Given the description of an element on the screen output the (x, y) to click on. 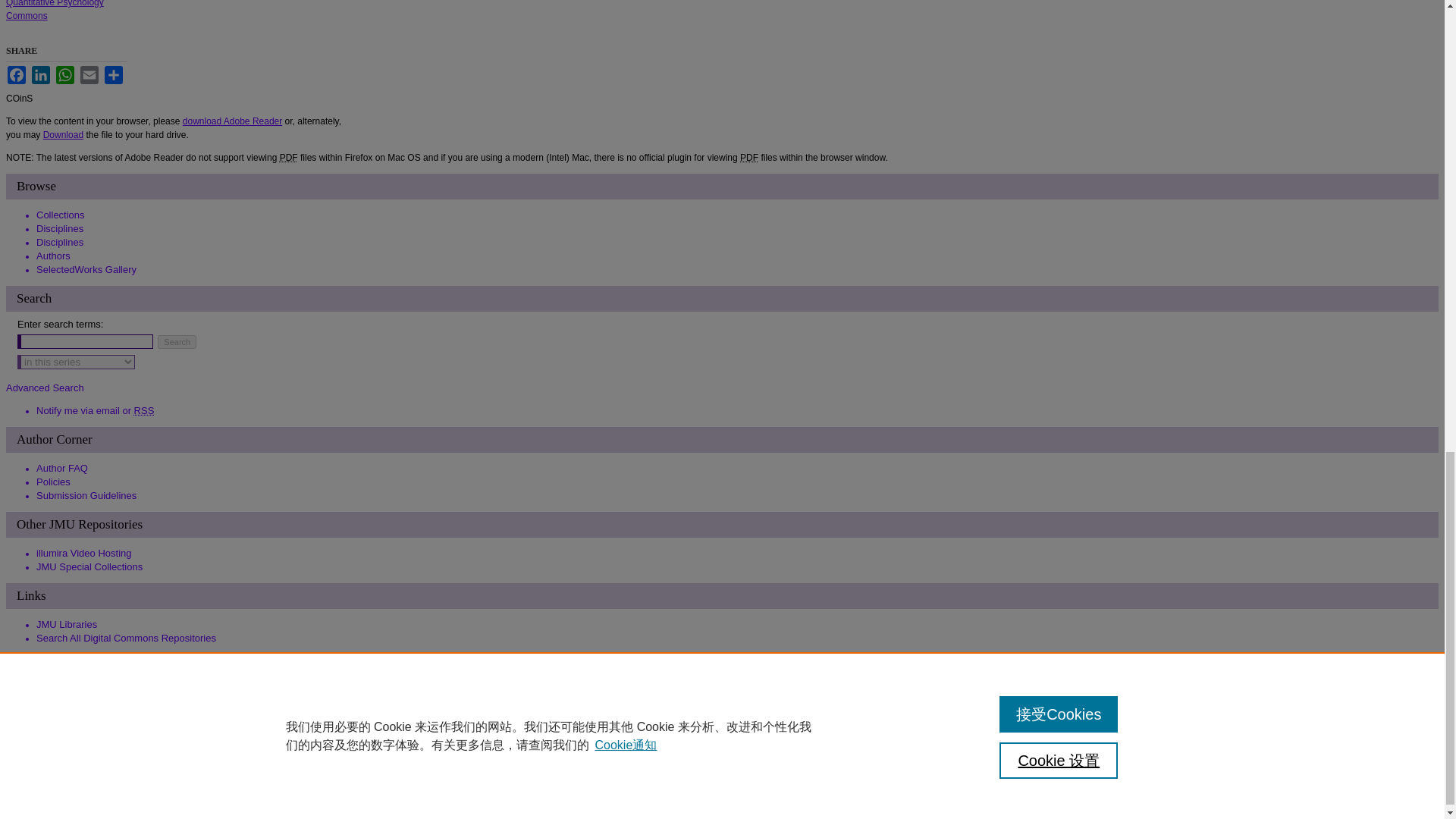
Authors (52, 255)
Disciplines (59, 242)
download Adobe Reader (232, 121)
Search (176, 341)
WhatsApp (65, 75)
Quantitative Psychology Commons (54, 10)
Search (176, 341)
Portable Document Format (748, 157)
Quantitative Psychology Commons (54, 10)
Email (89, 75)
LinkedIn (40, 75)
Collections (60, 214)
Facebook (16, 75)
Portable Document Format (288, 157)
Disciplines (59, 228)
